Given the description of an element on the screen output the (x, y) to click on. 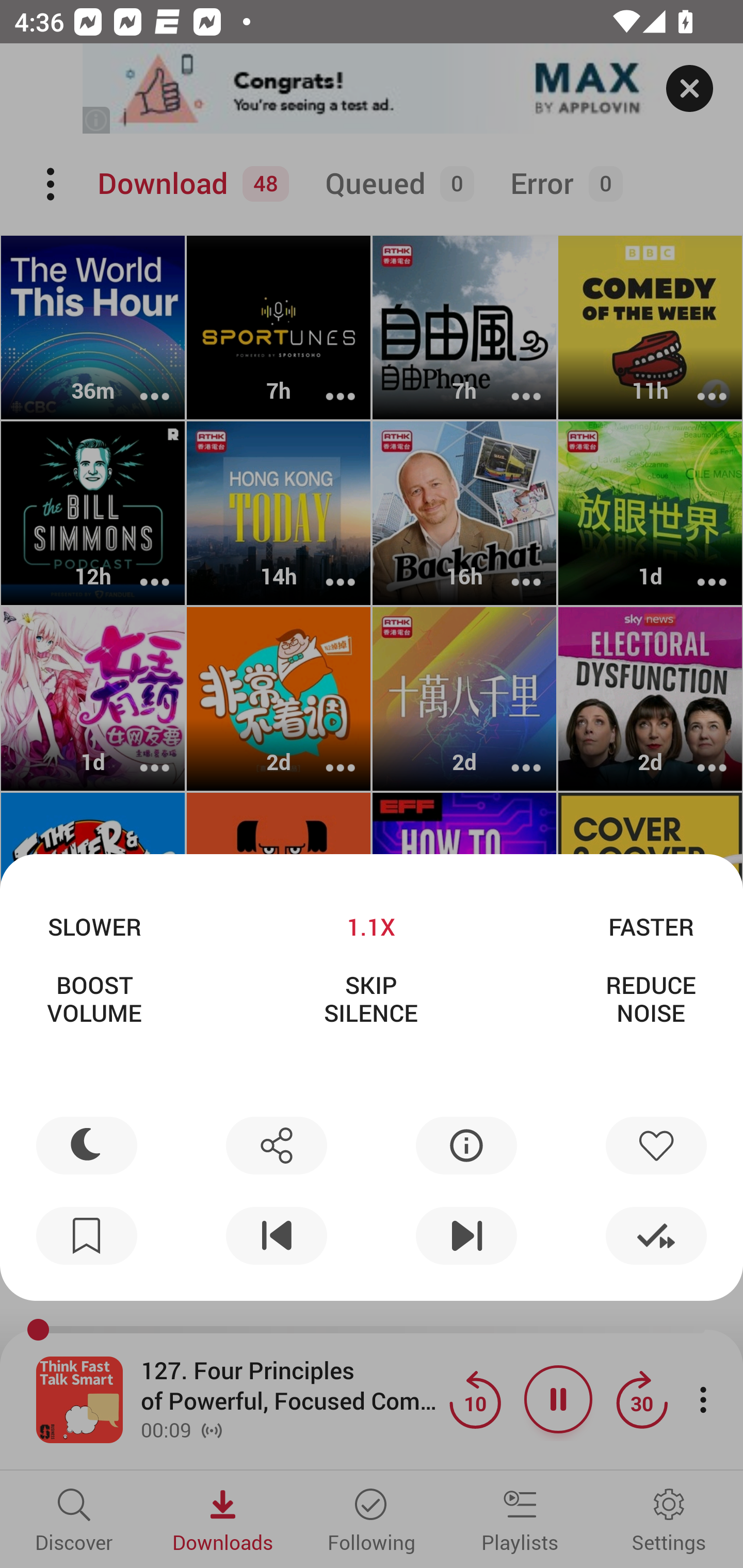
SLOWER (94, 926)
1.1X (370, 926)
FASTER (650, 926)
BOOST
VOLUME (94, 998)
SKIP
SILENCE (370, 998)
REDUCE
NOISE (650, 998)
Sleep timer (86, 1145)
Share (275, 1145)
Info (466, 1145)
Like (655, 1145)
New bookmark … (86, 1236)
Previous (275, 1236)
Next (466, 1236)
Mark played and next (655, 1236)
